Given the description of an element on the screen output the (x, y) to click on. 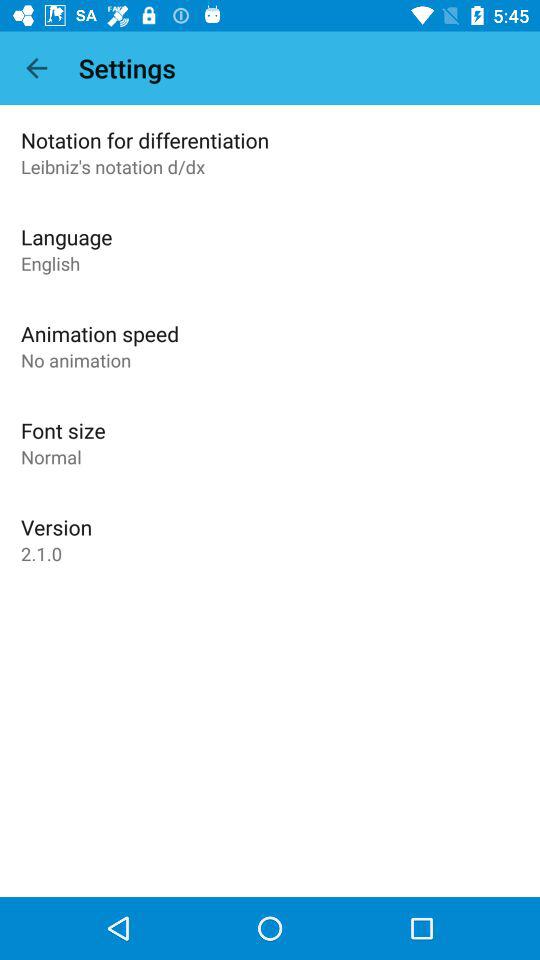
choose the font size (63, 430)
